Given the description of an element on the screen output the (x, y) to click on. 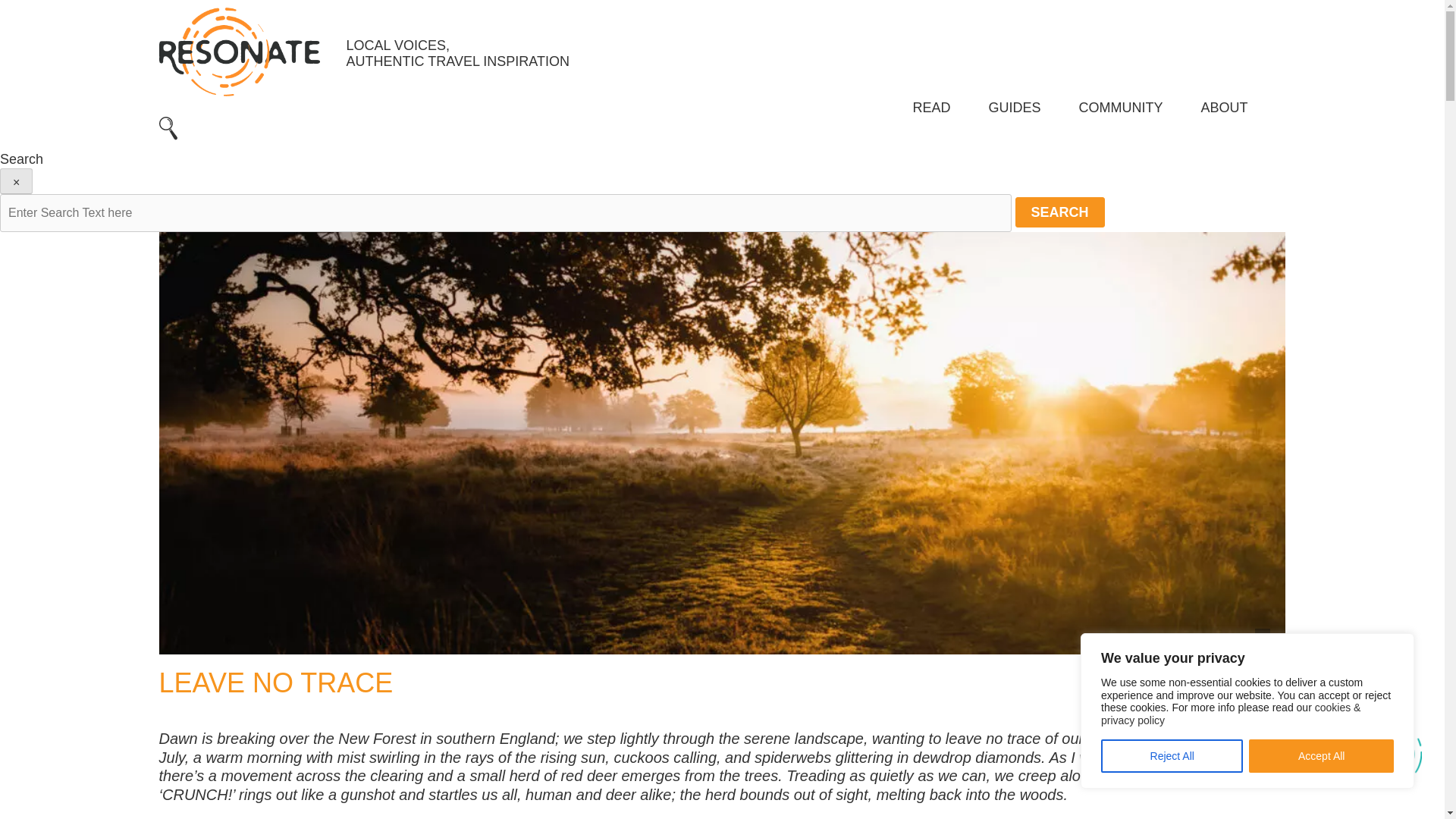
GUIDES (1014, 108)
COMMUNITY (1119, 108)
SEARCH (1059, 212)
About (1223, 108)
Reject All (1171, 756)
Accept All (1321, 756)
Guides (1014, 108)
Community (1119, 108)
ABOUT (1223, 108)
Read (931, 108)
READ (931, 108)
